Given the description of an element on the screen output the (x, y) to click on. 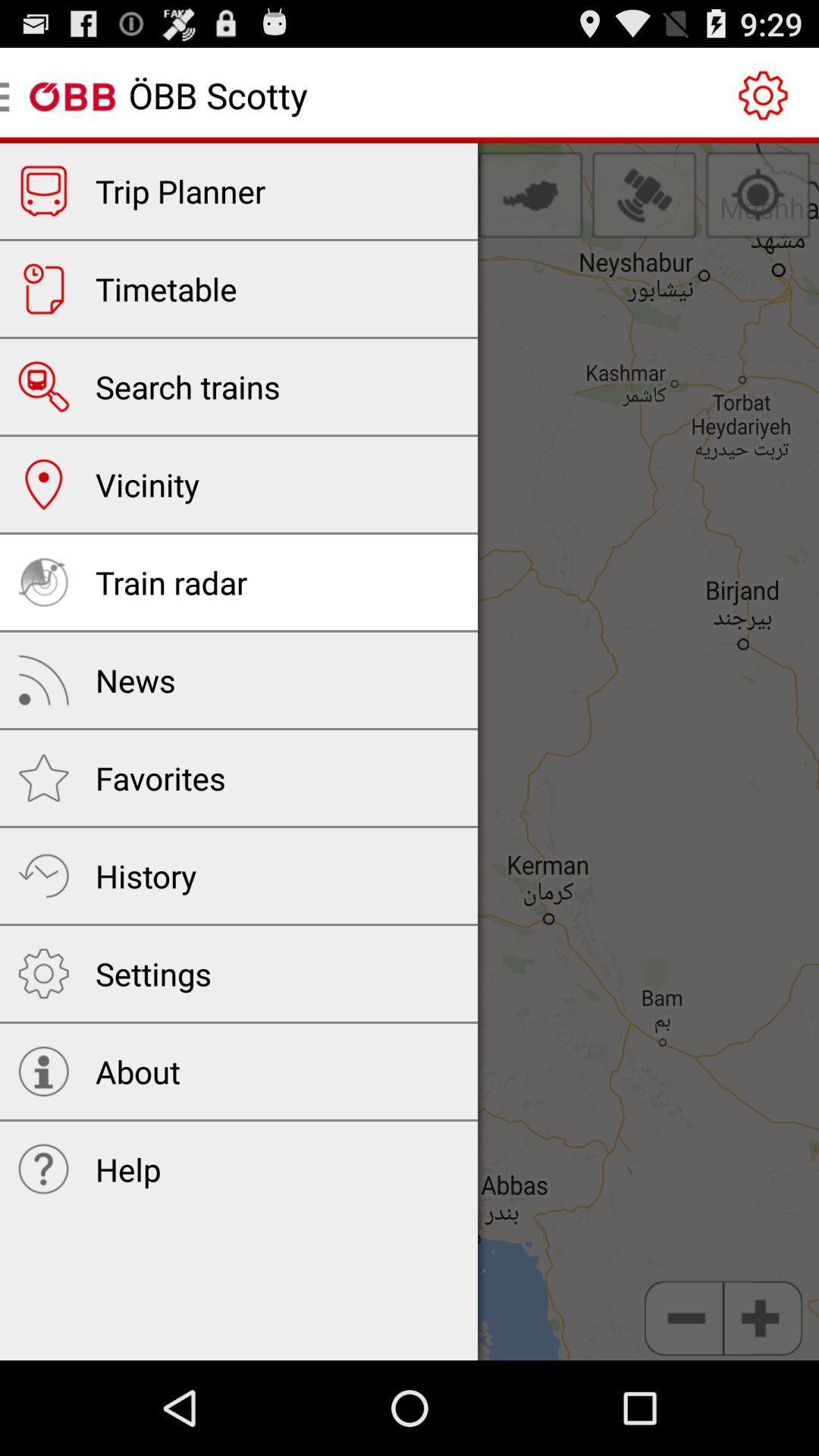
scroll to the history (145, 875)
